Given the description of an element on the screen output the (x, y) to click on. 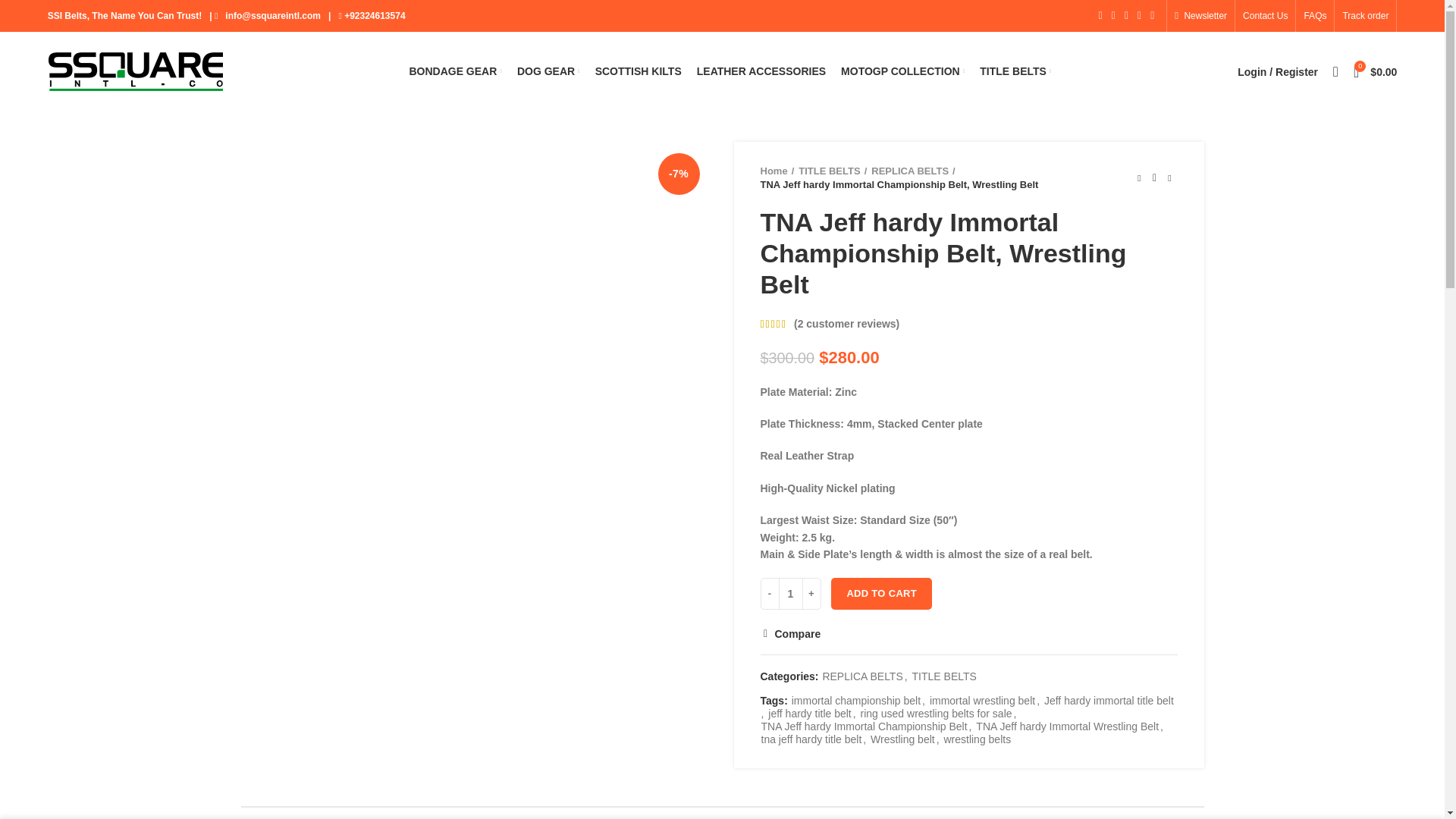
My account (1277, 71)
Contact Us (1264, 15)
SCOTTISH KILTS (638, 71)
TITLE BELTS (1015, 71)
DOG GEAR (548, 71)
MOTOGP COLLECTION (902, 71)
LEATHER ACCESSORIES (760, 71)
Track order (1365, 15)
Newsletter (1200, 15)
FAQs (1314, 15)
Shopping cart (1375, 71)
BONDAGE GEAR (454, 71)
